Given the description of an element on the screen output the (x, y) to click on. 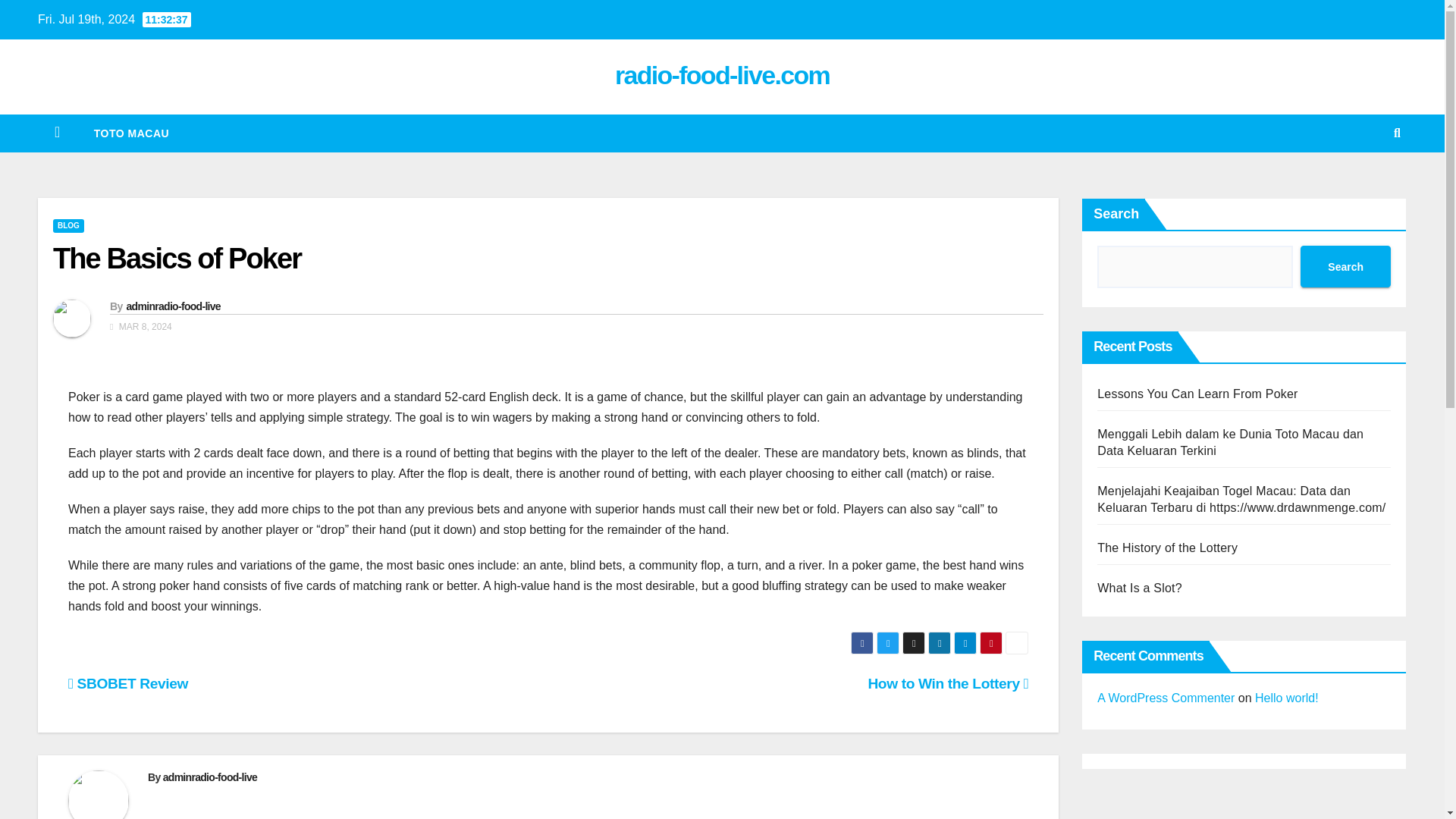
Lessons You Can Learn From Poker (1197, 393)
Toto Macau (131, 133)
How to Win the Lottery (947, 683)
adminradio-food-live (210, 776)
The History of the Lottery (1167, 547)
SBOBET Review (127, 683)
Permalink to: The Basics of Poker (176, 258)
Search (1345, 266)
What Is a Slot? (1139, 587)
adminradio-food-live (172, 306)
BLOG (68, 225)
The Basics of Poker (176, 258)
TOTO MACAU (131, 133)
radio-food-live.com (721, 74)
